Given the description of an element on the screen output the (x, y) to click on. 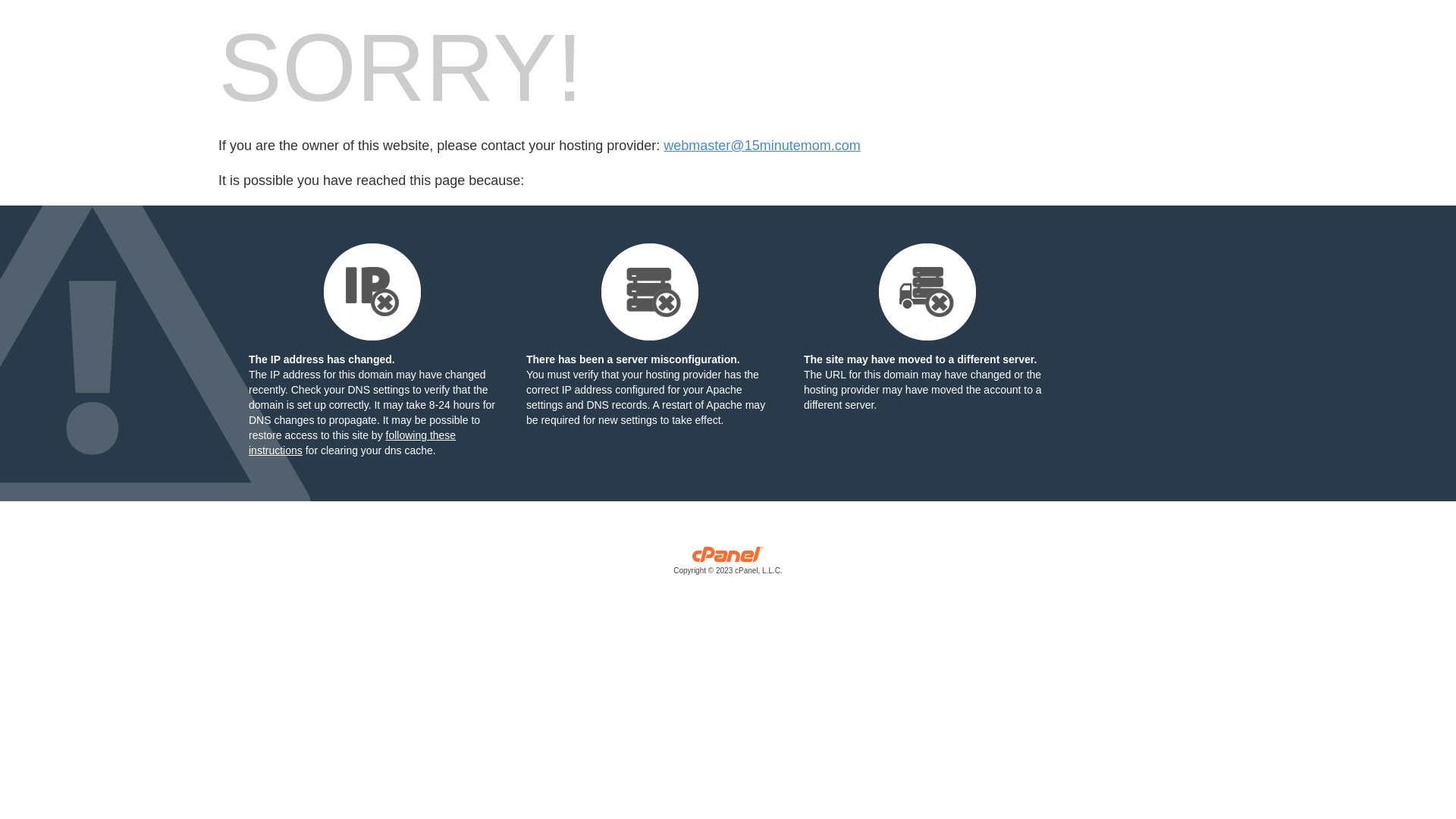
webmaster@15minutemom.com Element type: text (761, 145)
following these instructions Element type: text (351, 442)
